Given the description of an element on the screen output the (x, y) to click on. 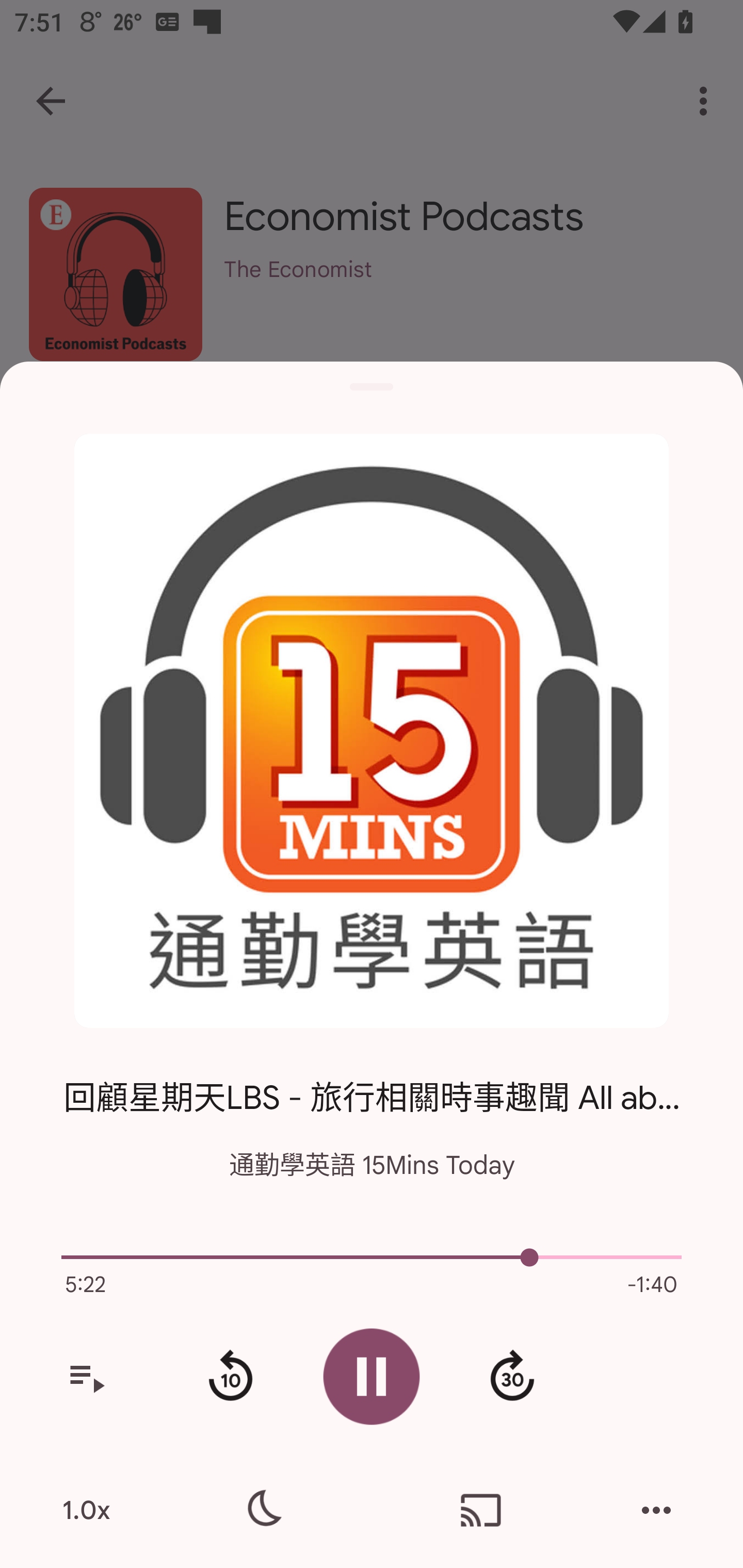
Open the show page for 通勤學英語 15Mins Today (371, 731)
7624.0 Current episode playback (371, 1257)
Pause (371, 1376)
View your queue (86, 1376)
Rewind 10 seconds (230, 1376)
Fast forward 30 second (511, 1376)
1.0x Playback speed is 1.0. (86, 1510)
Sleep timer settings (261, 1510)
Cast. Disconnected (480, 1510)
More actions (655, 1510)
